Given the description of an element on the screen output the (x, y) to click on. 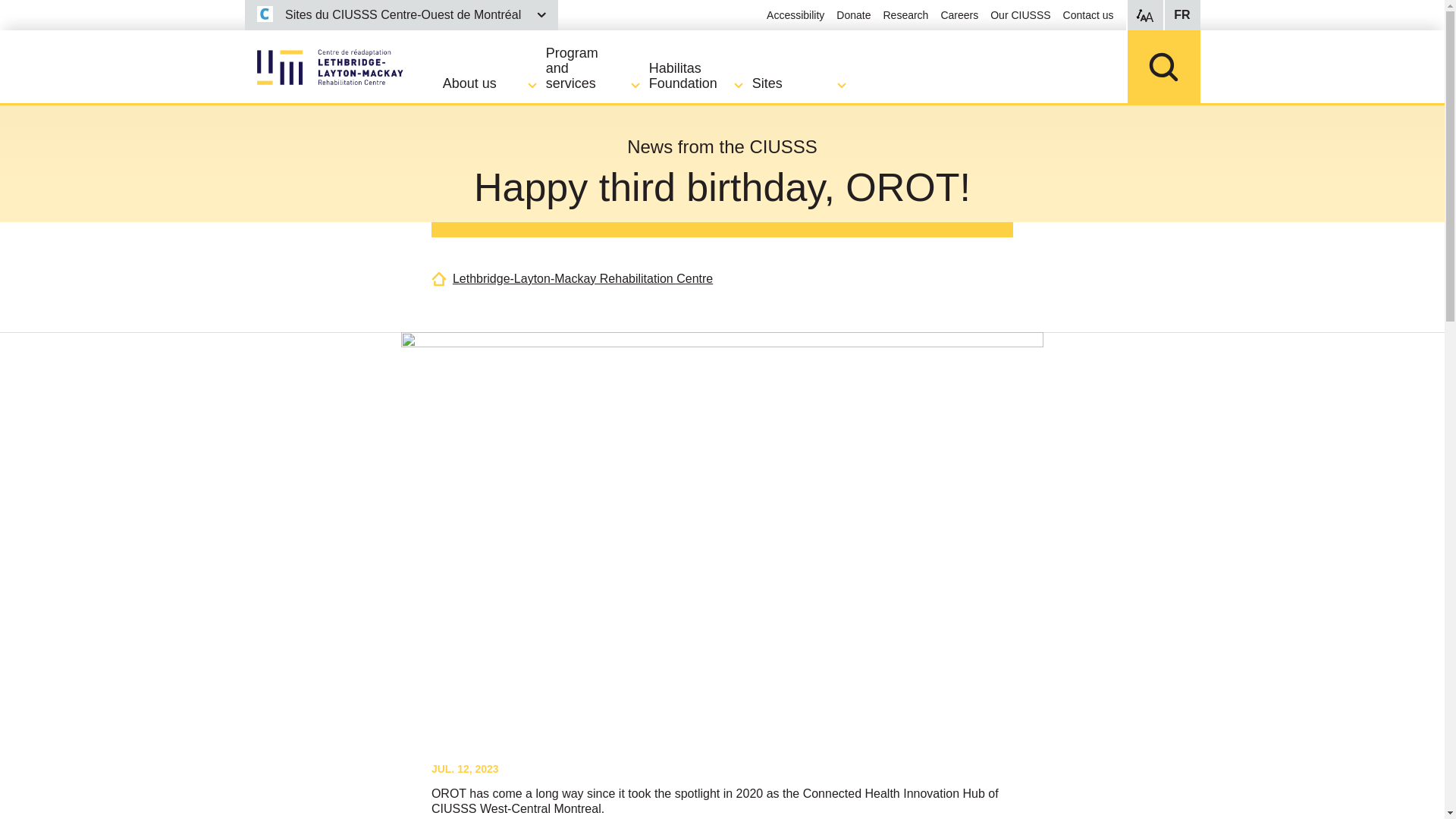
About us (494, 83)
FR (1181, 15)
